Given the description of an element on the screen output the (x, y) to click on. 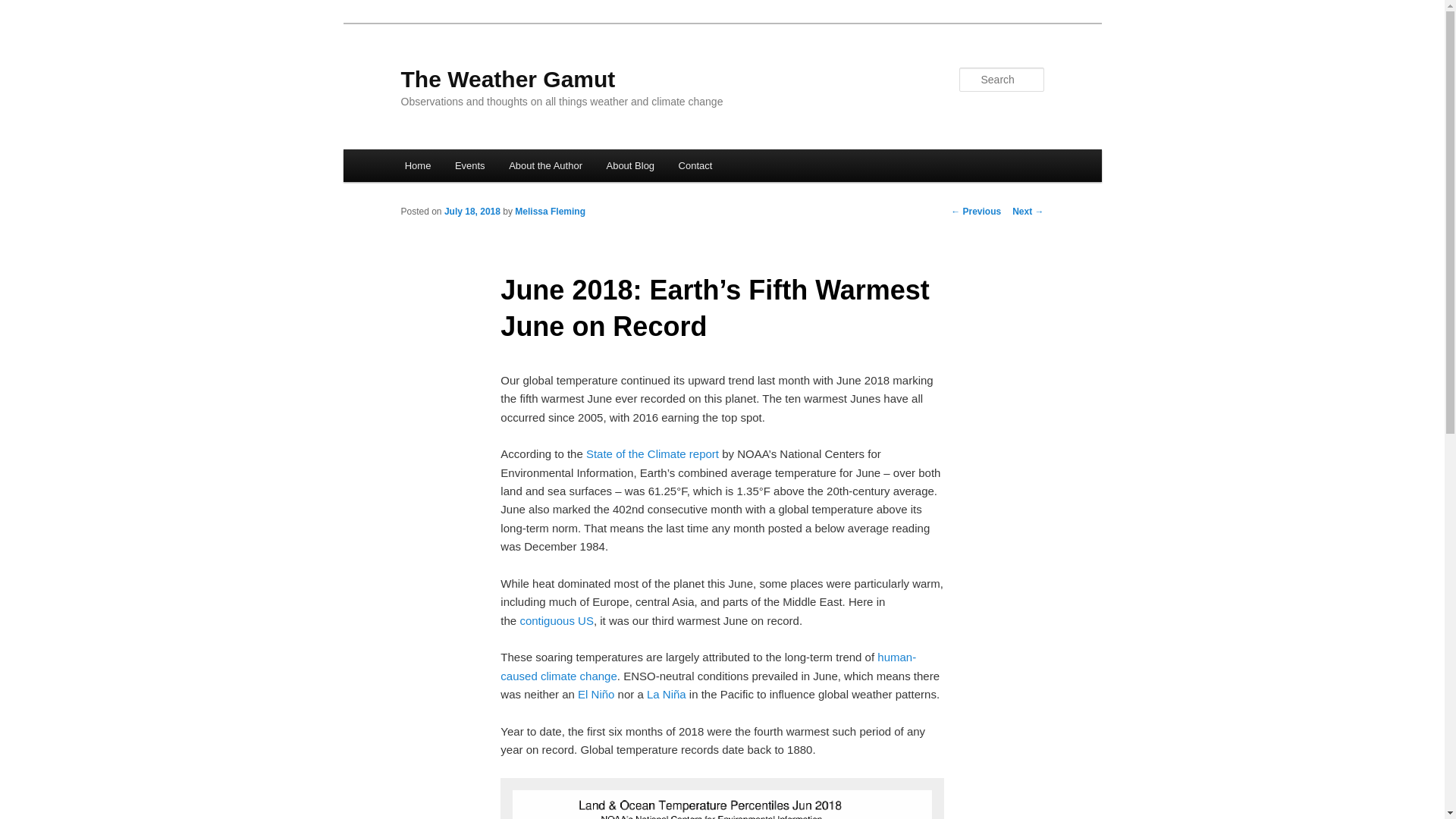
contiguous US (556, 620)
Search (24, 8)
About Blog (630, 165)
State of the Climate report (652, 453)
Contact (694, 165)
About the Author (545, 165)
July 18, 2018 (472, 211)
The Weather Gamut (507, 78)
human-caused climate change (707, 665)
Events (469, 165)
Melissa Fleming (550, 211)
View all posts by Melissa Fleming (550, 211)
Home (417, 165)
